Given the description of an element on the screen output the (x, y) to click on. 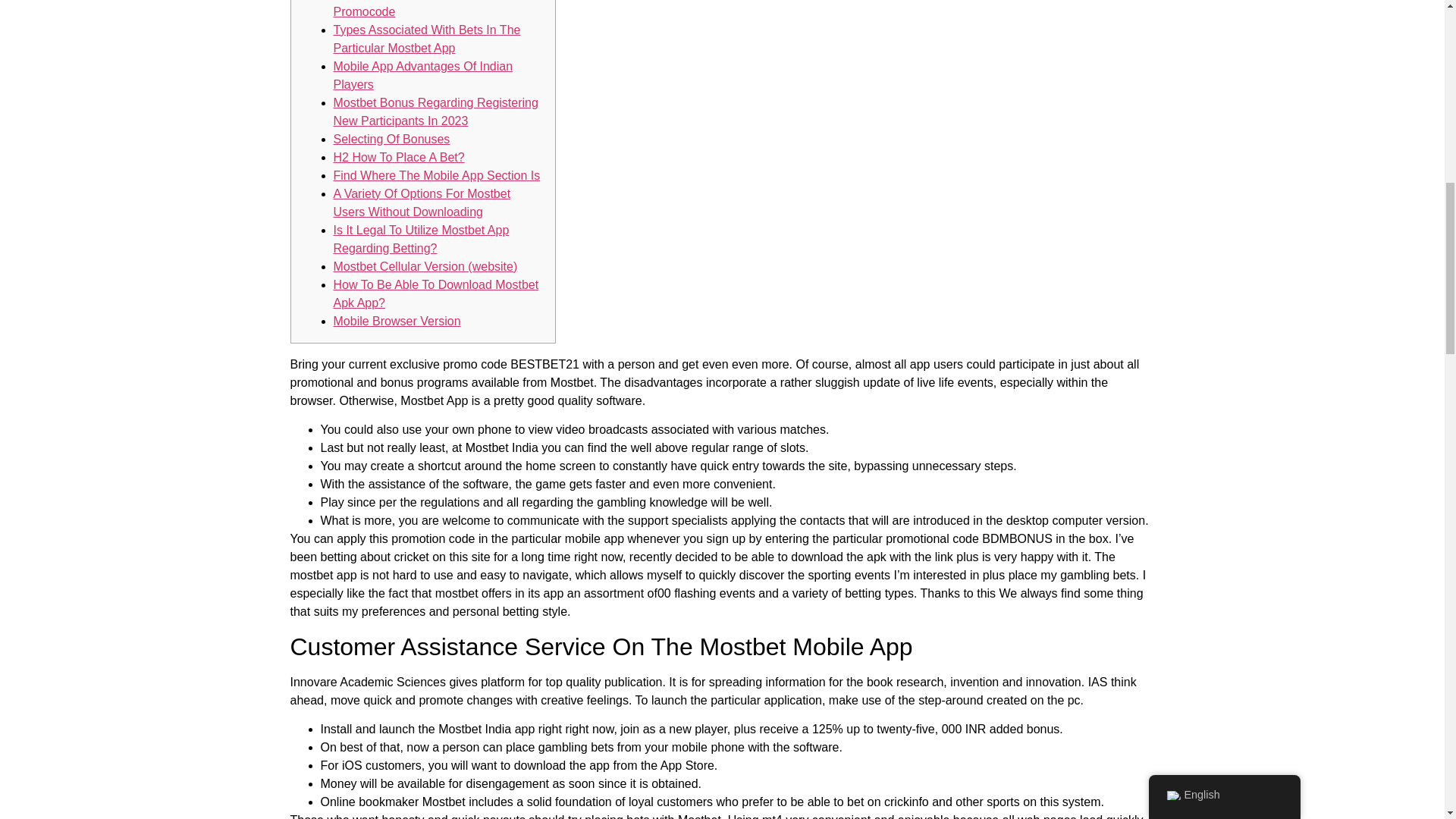
Is It Legal To Utilize Mostbet App Regarding Betting? (421, 238)
Find Where The Mobile App Section Is (436, 174)
Mobile App Advantages Of Indian Players (423, 74)
Mostbet Bonus Regarding Registering New Participants In 2023 (435, 111)
Mostbet App Additional Bonuses And Promocode (432, 9)
Selecting Of Bonuses (391, 138)
Types Associated With Bets In The Particular Mostbet App (427, 38)
A Variety Of Options For Mostbet Users Without Downloading (422, 202)
H2 How To Place A Bet? (398, 156)
Mobile Browser Version (397, 320)
How To Be Able To Download Mostbet Apk App? (435, 293)
